Given the description of an element on the screen output the (x, y) to click on. 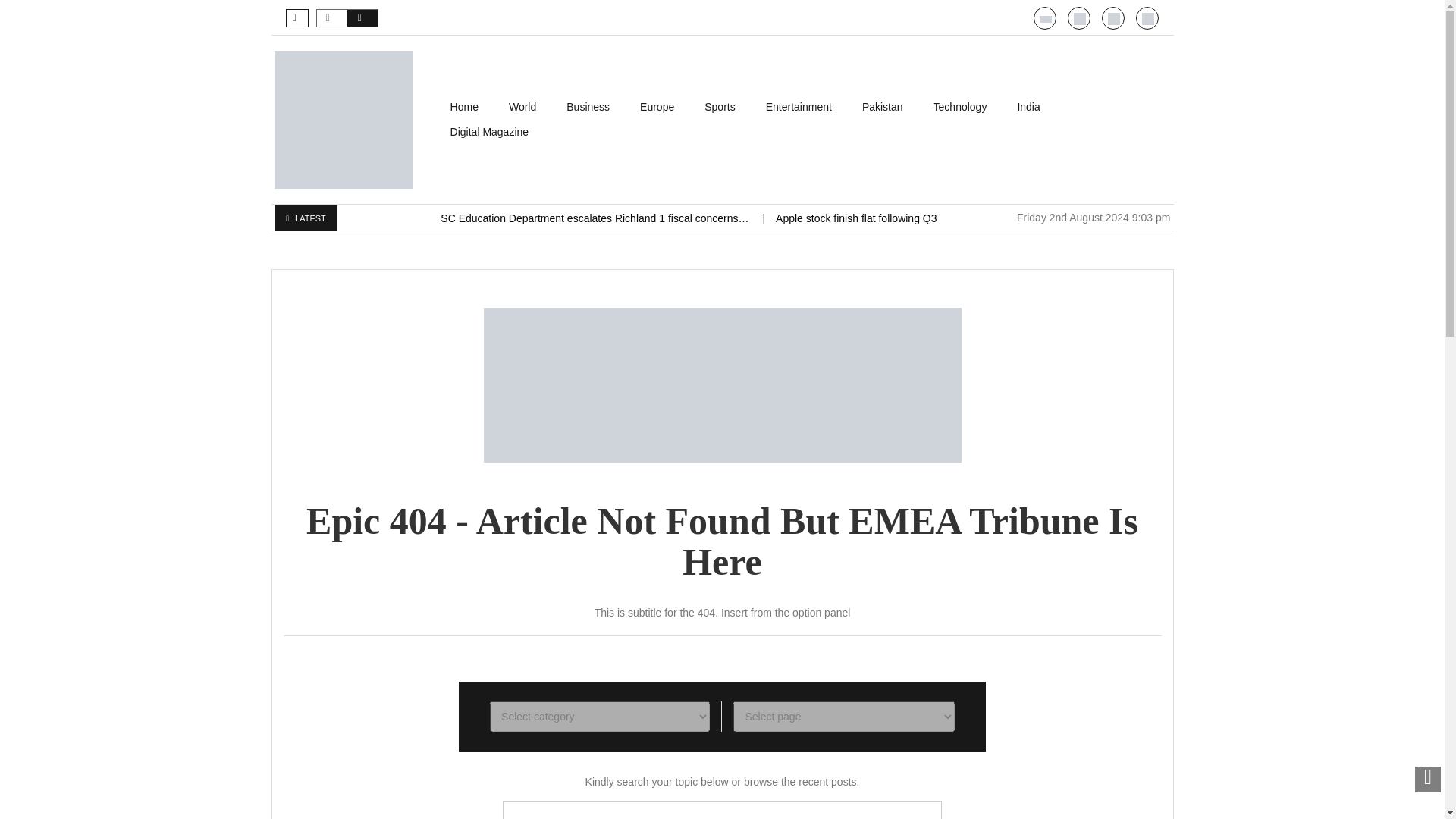
Twitter (1113, 19)
Europe (656, 107)
Entertainment (799, 107)
Digital Magazine (489, 131)
Home (464, 107)
Skip to content (470, 102)
Skip to content (470, 102)
Facebook (1147, 19)
Pakistan (882, 107)
Sports (718, 107)
